Given the description of an element on the screen output the (x, y) to click on. 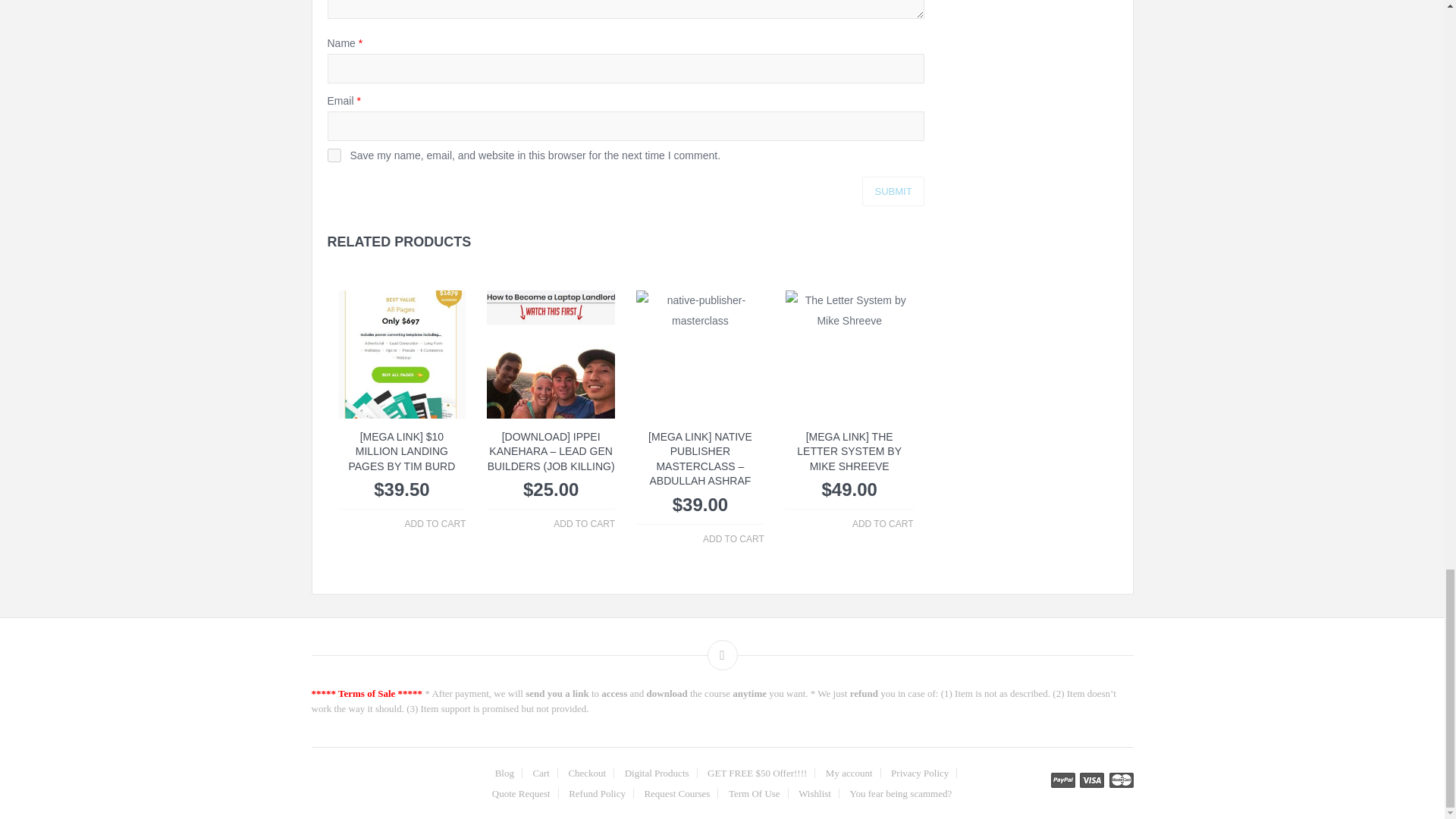
ADD TO CART (733, 539)
VISA (1091, 780)
Submit (892, 191)
Master Card (1120, 780)
ADD TO CART (882, 524)
Submit (892, 191)
yes (333, 155)
PayPal (1063, 780)
ADD TO CART (434, 524)
ADD TO CART (583, 524)
